Given the description of an element on the screen output the (x, y) to click on. 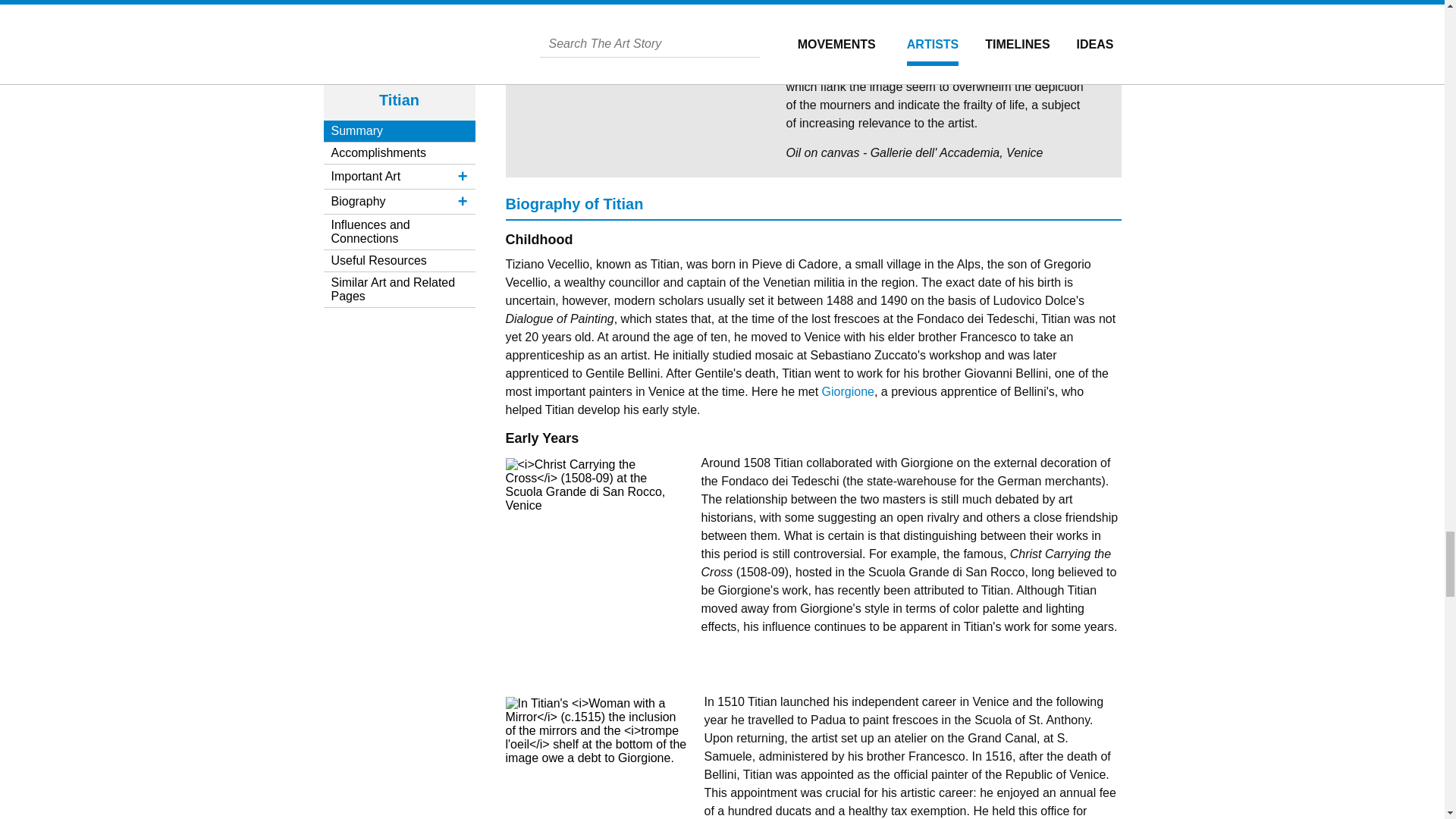
Giorgione (848, 391)
